Given the description of an element on the screen output the (x, y) to click on. 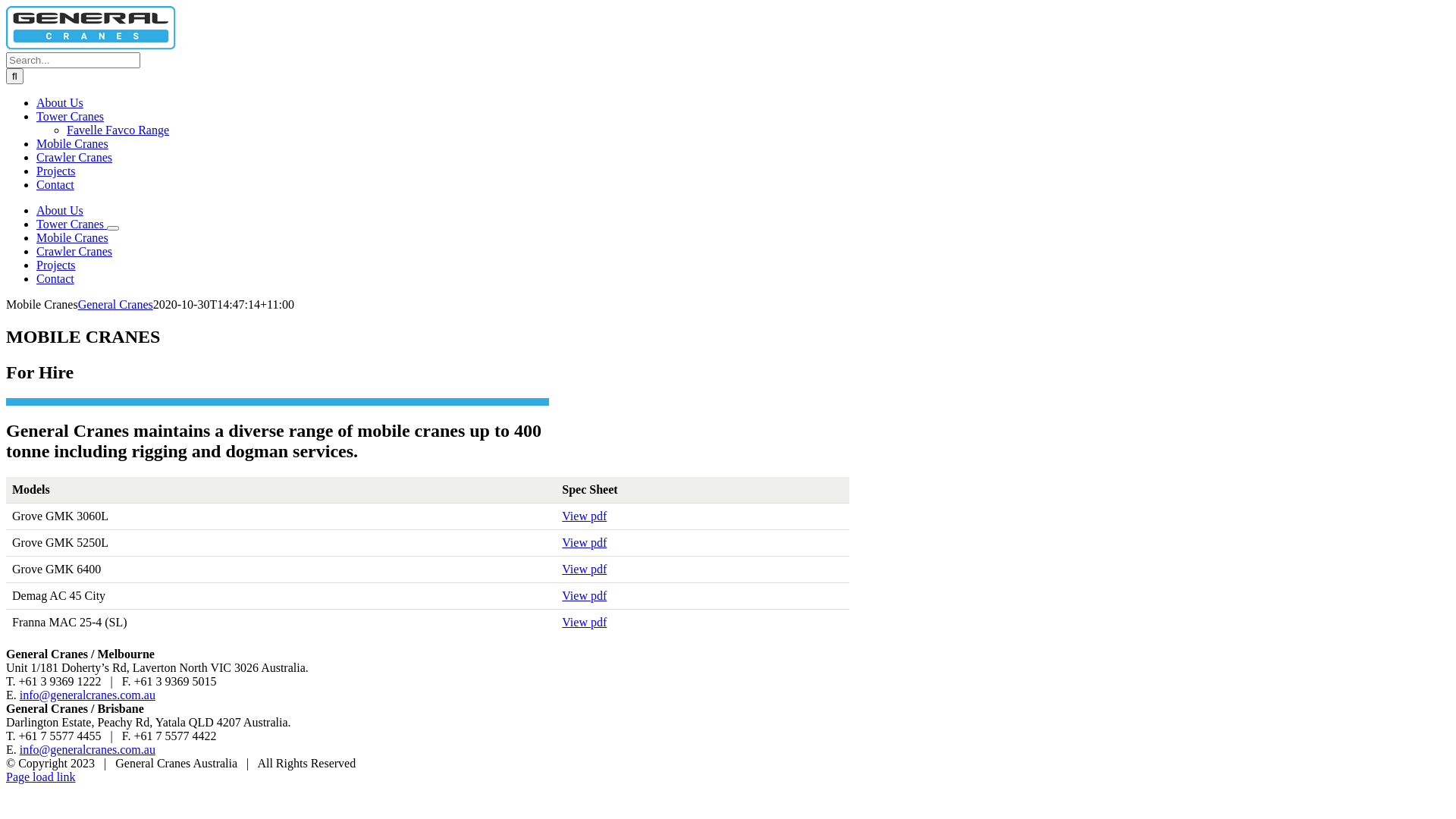
View pdf Element type: text (583, 542)
About Us Element type: text (59, 209)
Crawler Cranes Element type: text (74, 250)
Crawler Cranes Element type: text (74, 156)
Tower Cranes Element type: text (71, 223)
View pdf Element type: text (583, 621)
Mobile Cranes Element type: text (72, 237)
info@generalcranes.com.au Element type: text (87, 749)
Projects Element type: text (55, 170)
Favelle Favco Range Element type: text (117, 129)
Contact Element type: text (55, 278)
Contact Element type: text (55, 184)
Mobile Cranes Element type: text (72, 143)
About Us Element type: text (59, 102)
Projects Element type: text (55, 264)
General Cranes Element type: text (115, 304)
View pdf Element type: text (583, 595)
Skip to content Element type: text (5, 5)
View pdf Element type: text (583, 515)
Page load link Element type: text (40, 776)
Tower Cranes Element type: text (69, 115)
info@generalcranes.com.au Element type: text (87, 694)
View pdf Element type: text (583, 568)
